Given the description of an element on the screen output the (x, y) to click on. 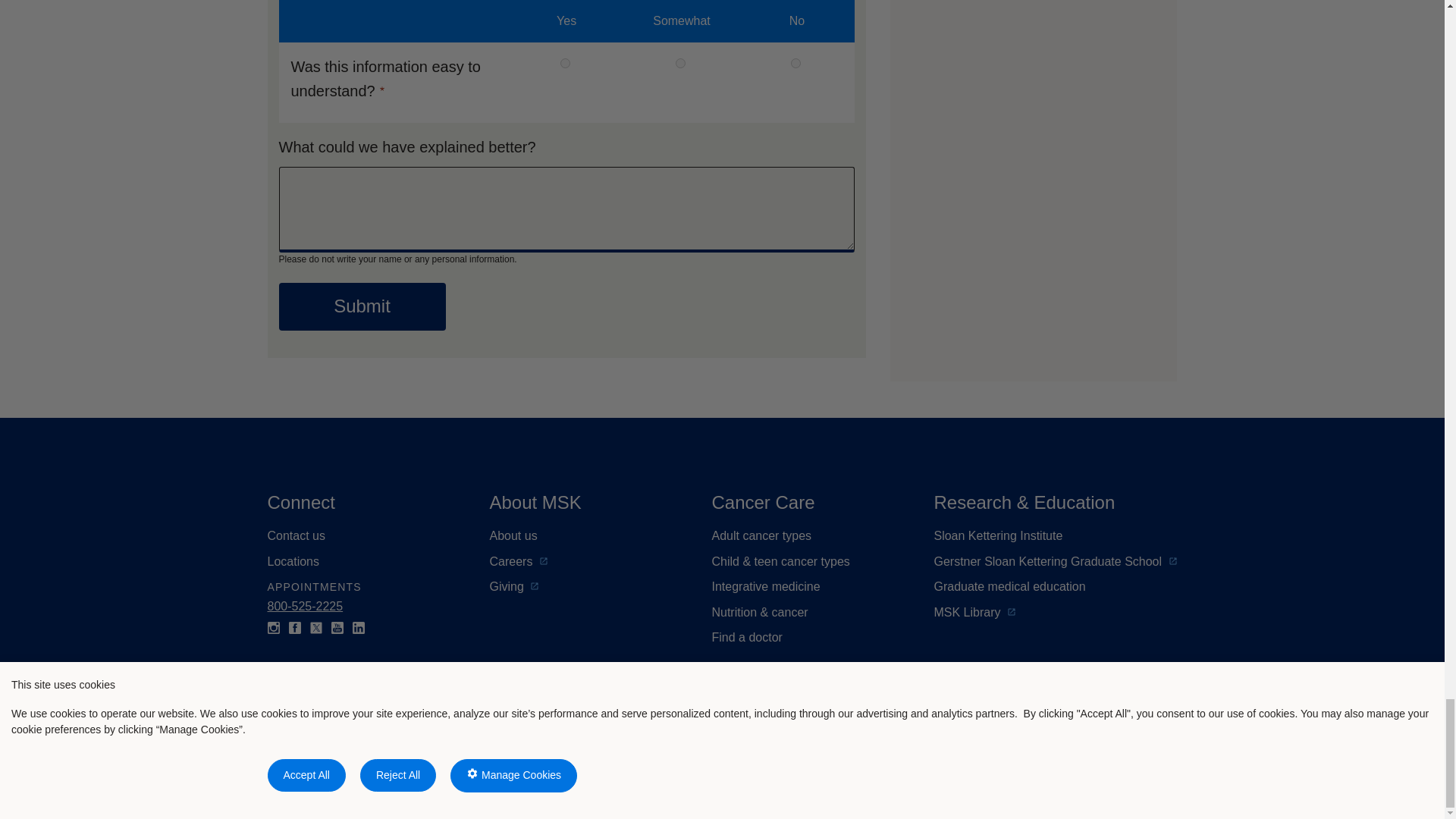
Somewhat (680, 62)
Memorial Sloan Kettering Cancer Center (409, 750)
No (795, 62)
Yes (565, 62)
Submit (362, 306)
